Given the description of an element on the screen output the (x, y) to click on. 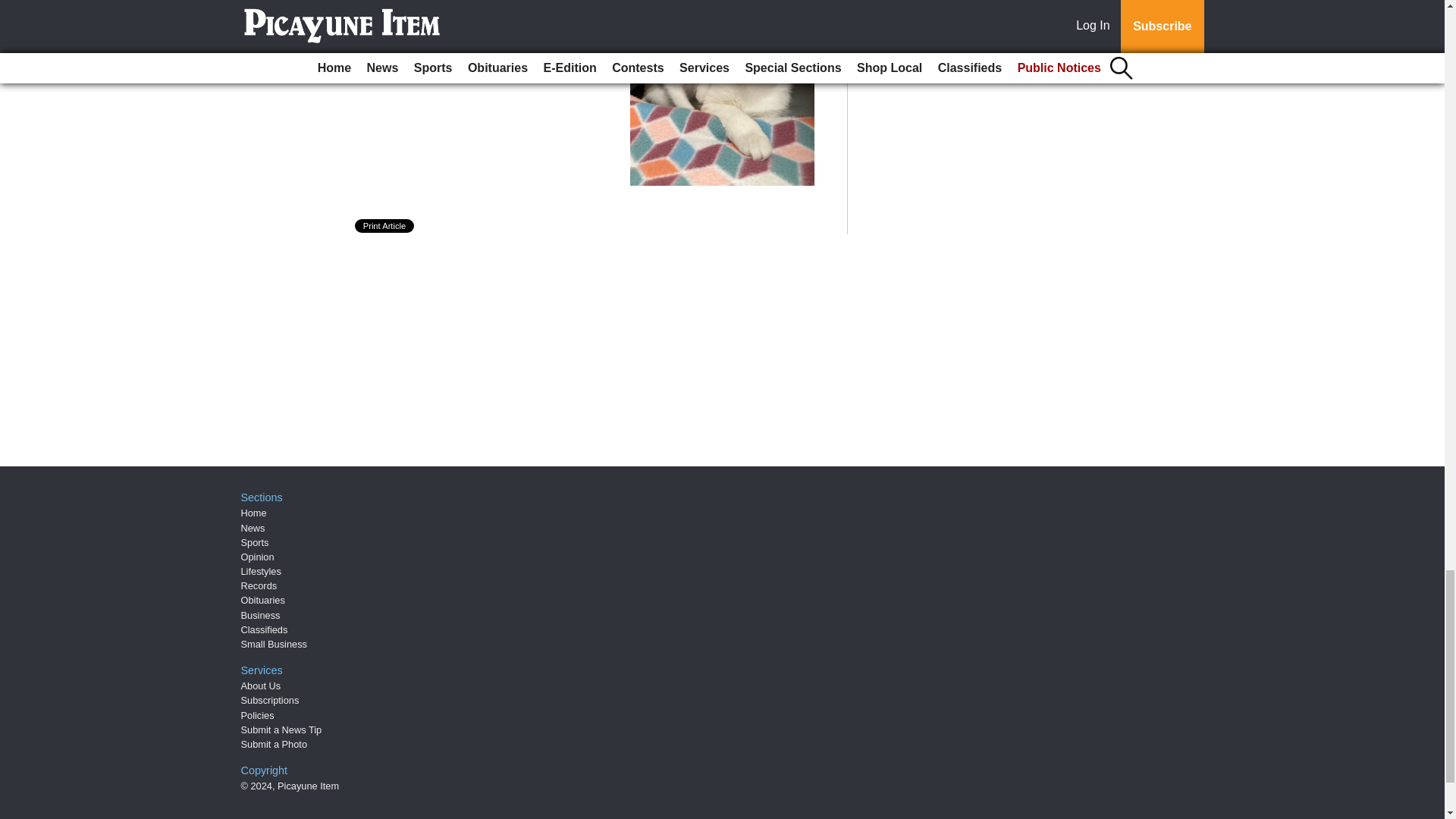
Print Article (384, 225)
